Given the description of an element on the screen output the (x, y) to click on. 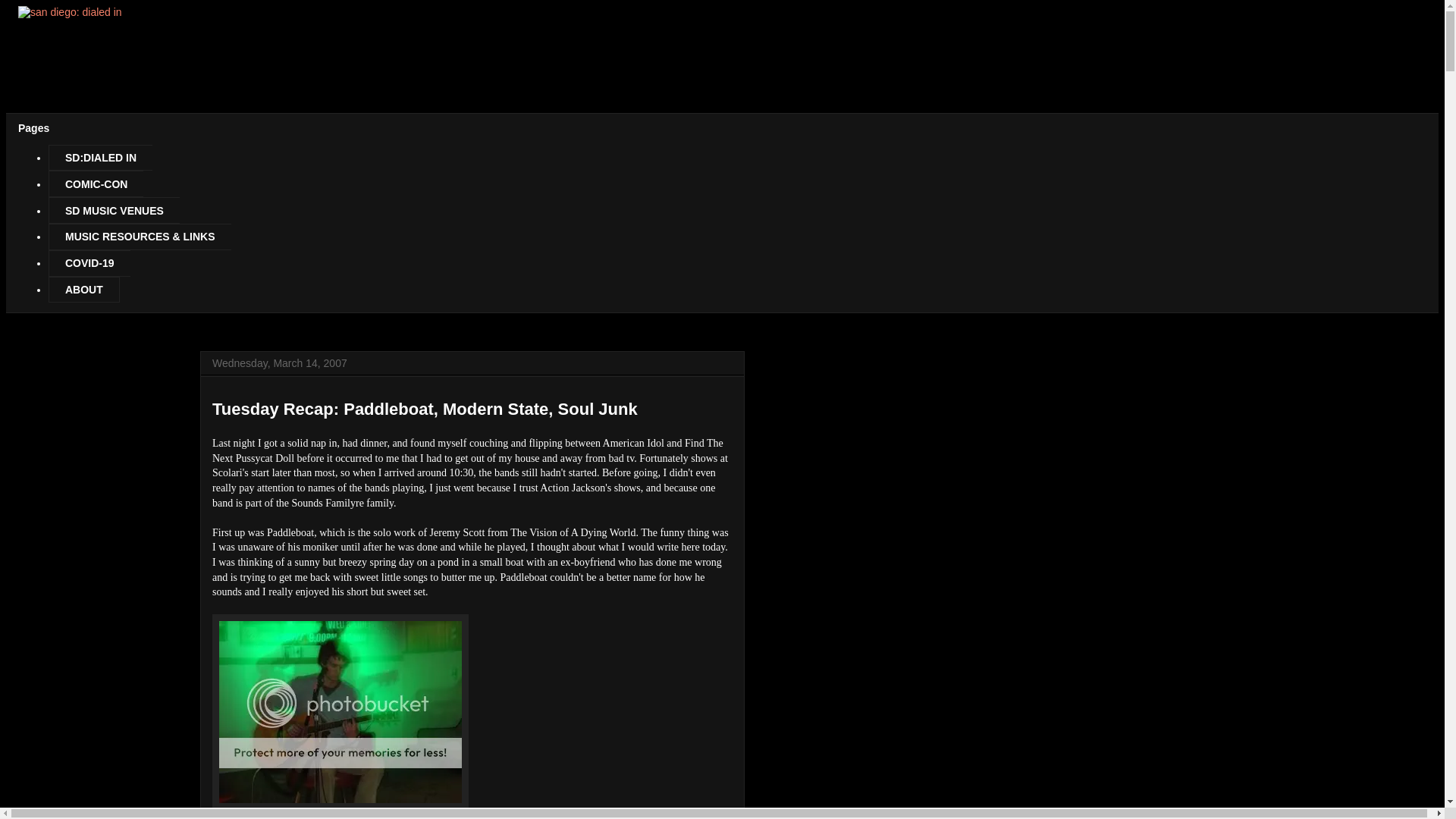
SD MUSIC VENUES (113, 210)
COMIC-CON (95, 183)
ABOUT (83, 289)
COVID-19 (89, 263)
SD:DIALED IN (100, 157)
